Given the description of an element on the screen output the (x, y) to click on. 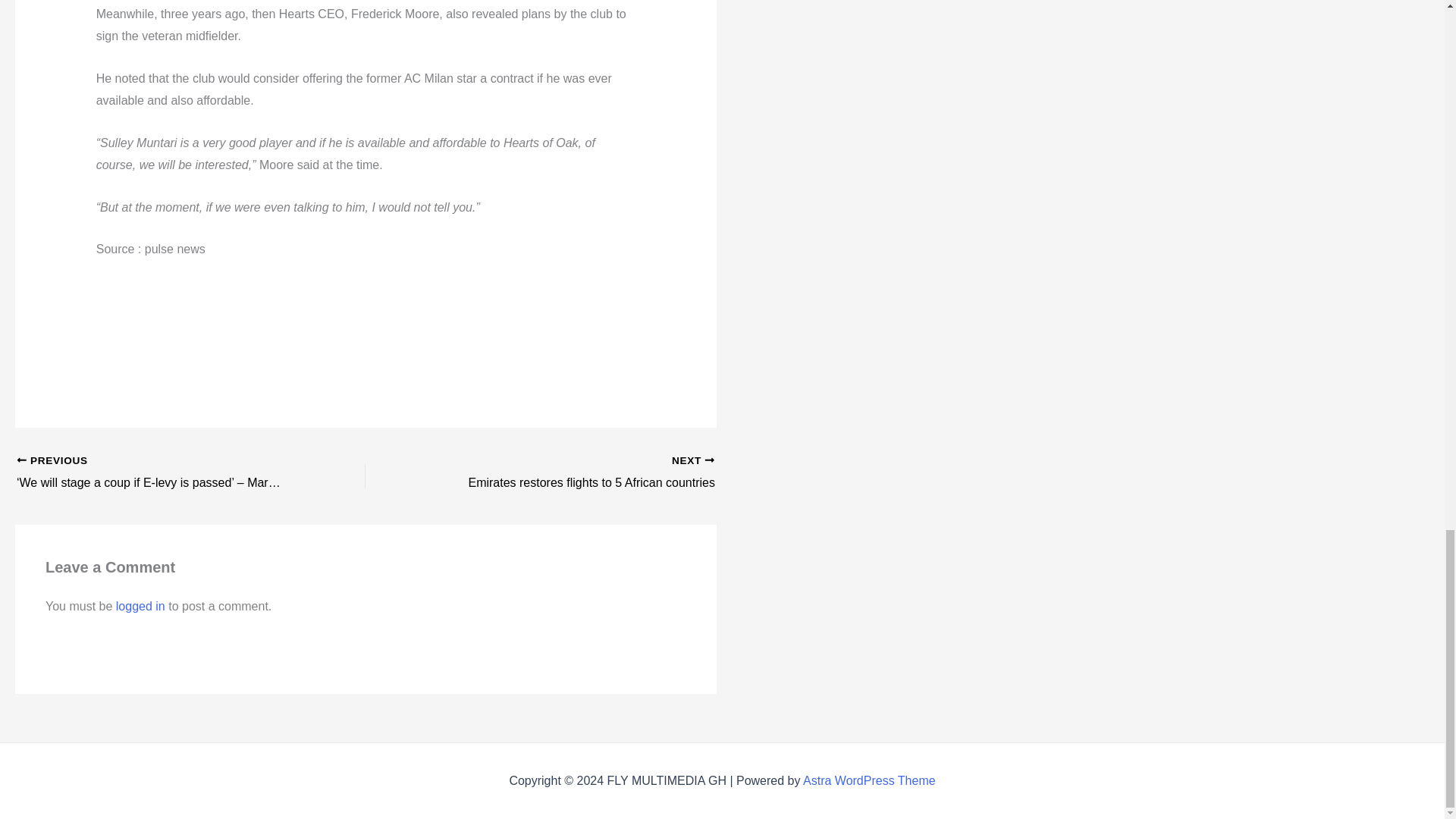
logged in (140, 605)
Astra WordPress Theme (869, 780)
Emirates restores flights to 5 African countries (573, 473)
